Given the description of an element on the screen output the (x, y) to click on. 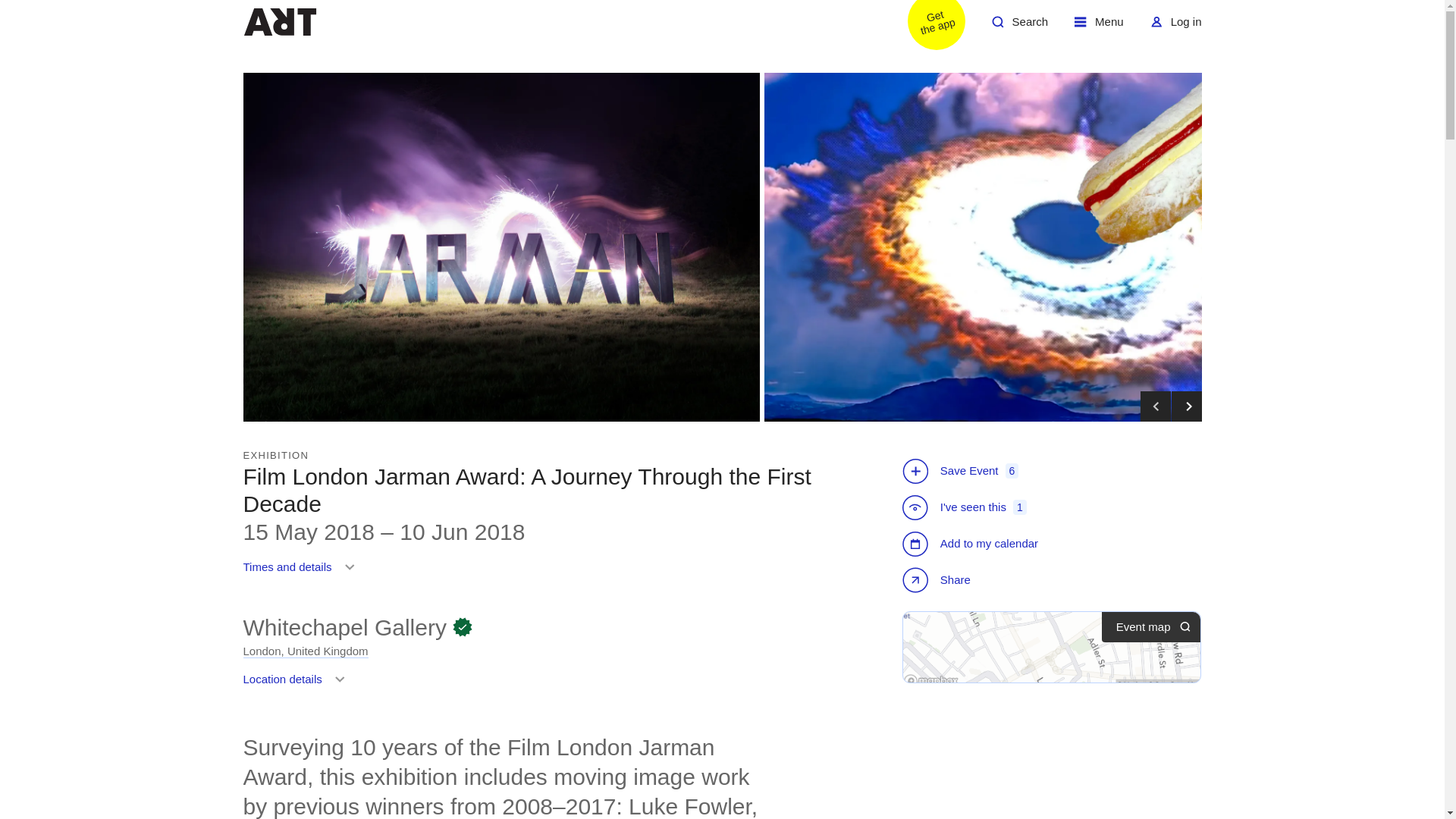
Share (938, 581)
Welcome to ArtRabbit (1019, 26)
Add to my calendar (279, 22)
